Given the description of an element on the screen output the (x, y) to click on. 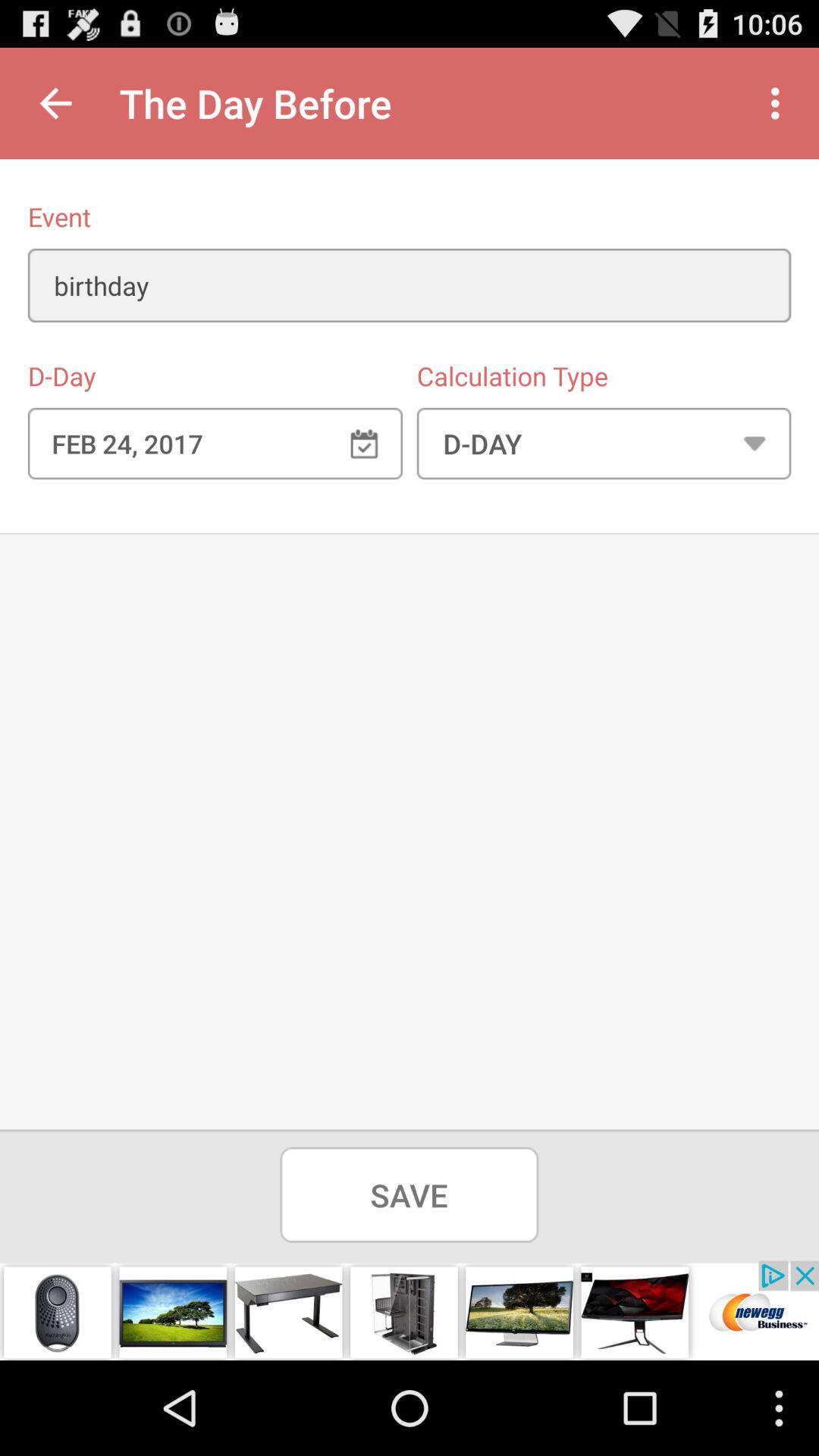
click to view furniture advertisements options (409, 1310)
